Given the description of an element on the screen output the (x, y) to click on. 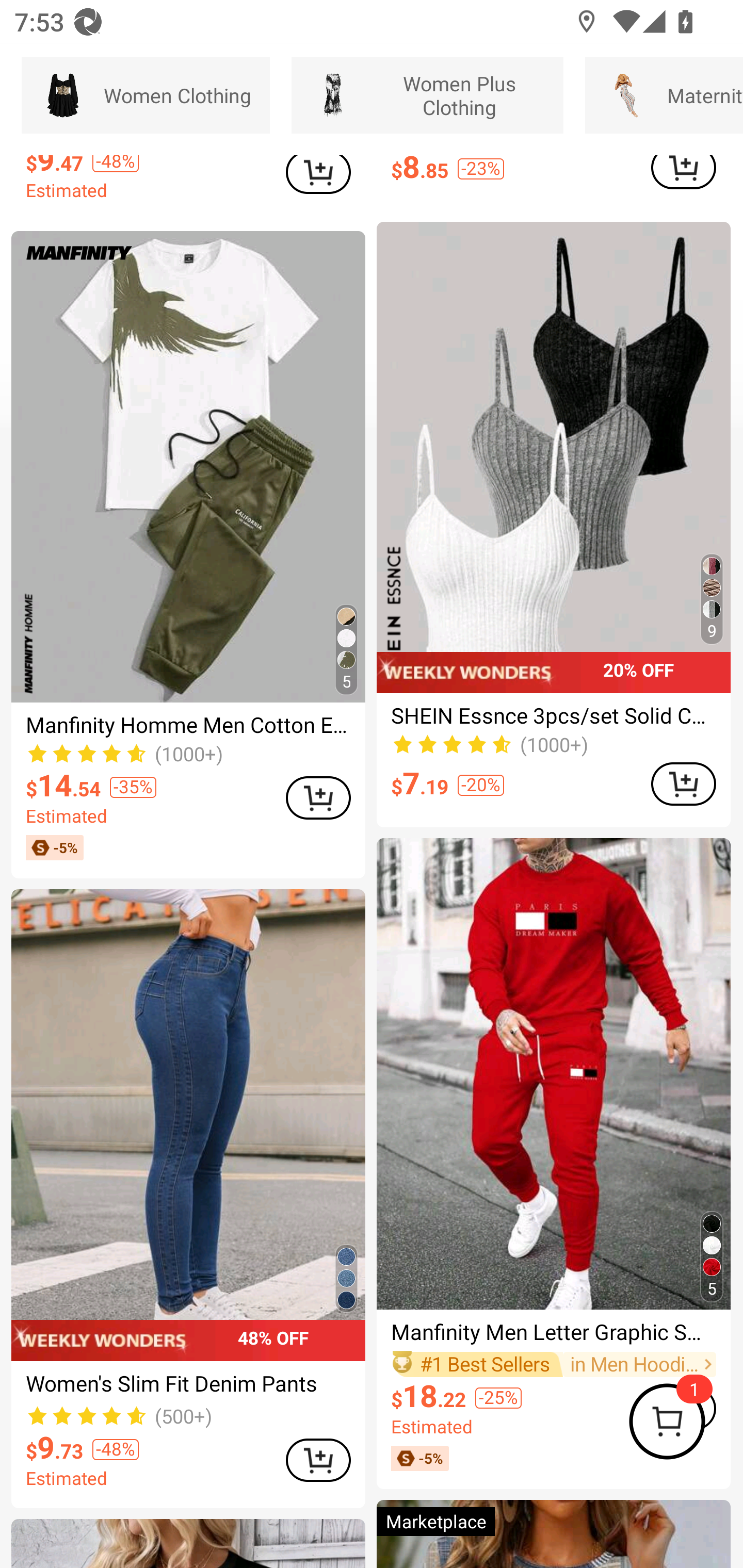
Women Clothing (145, 95)
Women Plus Clothing (427, 95)
Maternity Clothing (664, 95)
ADD TO CART (318, 174)
ADD TO CART (683, 172)
ADD TO CART (683, 783)
ADD TO CART (318, 798)
#1 Best Sellers in Men Hoodie & Sweatshirt Co-ords (553, 1364)
ADD TO CART (318, 1459)
